Given the description of an element on the screen output the (x, y) to click on. 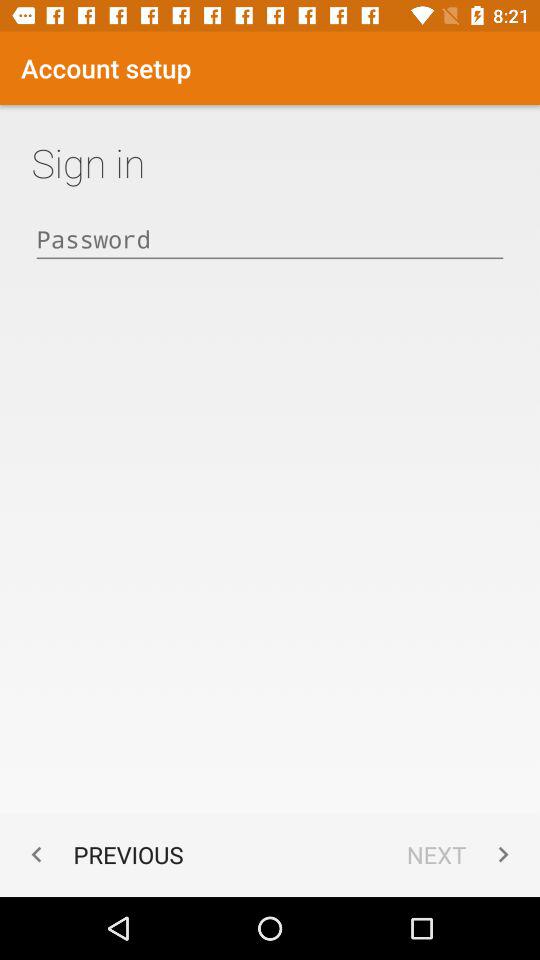
press icon at the bottom left corner (102, 854)
